Given the description of an element on the screen output the (x, y) to click on. 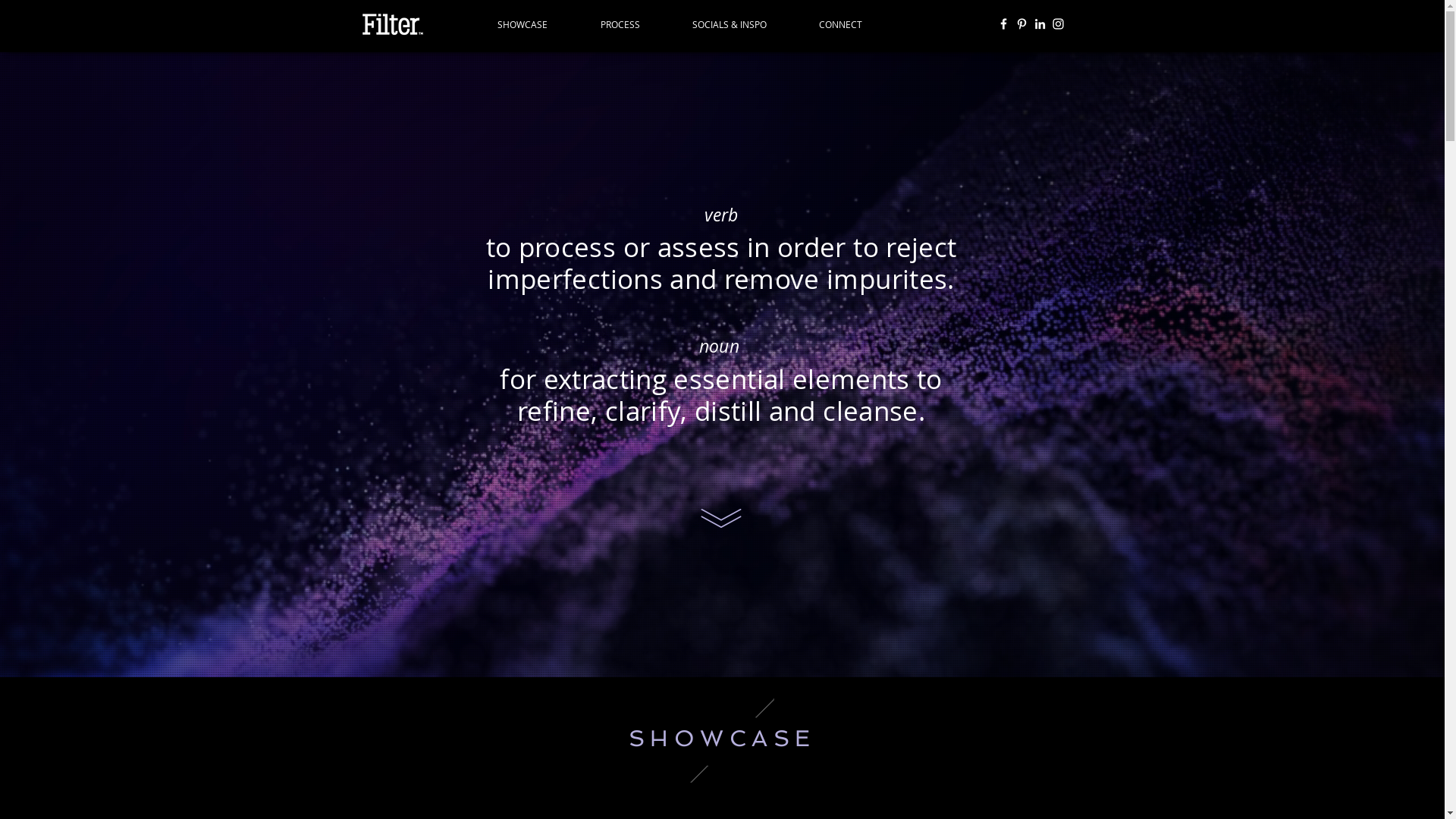
PROCESS Element type: text (634, 24)
SHOWCASE Element type: text (536, 24)
CONNECT Element type: text (854, 24)
Shape-1-copy-2.png Element type: hover (730, 740)
filter logo Element type: hover (390, 23)
SOCIALS & INSPO Element type: text (743, 24)
